Given the description of an element on the screen output the (x, y) to click on. 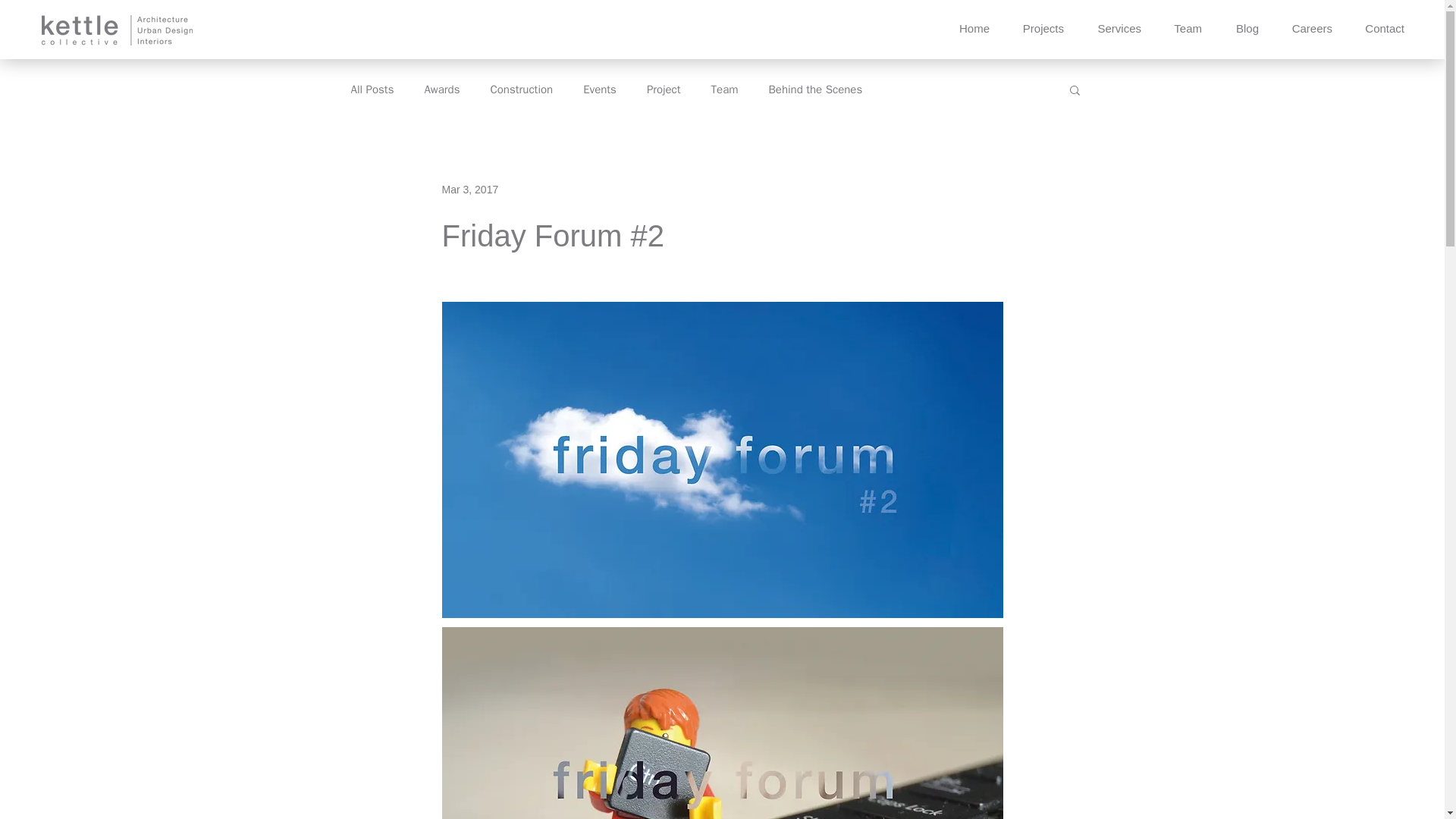
Events (599, 88)
Awards (441, 88)
Home (968, 27)
Blog (1240, 27)
Construction (521, 88)
Team (724, 88)
Projects (1038, 27)
Careers (1306, 27)
Contact (1379, 27)
Project (663, 88)
Behind the Scenes (815, 88)
Services (1114, 27)
All Posts (371, 88)
Team (1182, 27)
Mar 3, 2017 (469, 189)
